Given the description of an element on the screen output the (x, y) to click on. 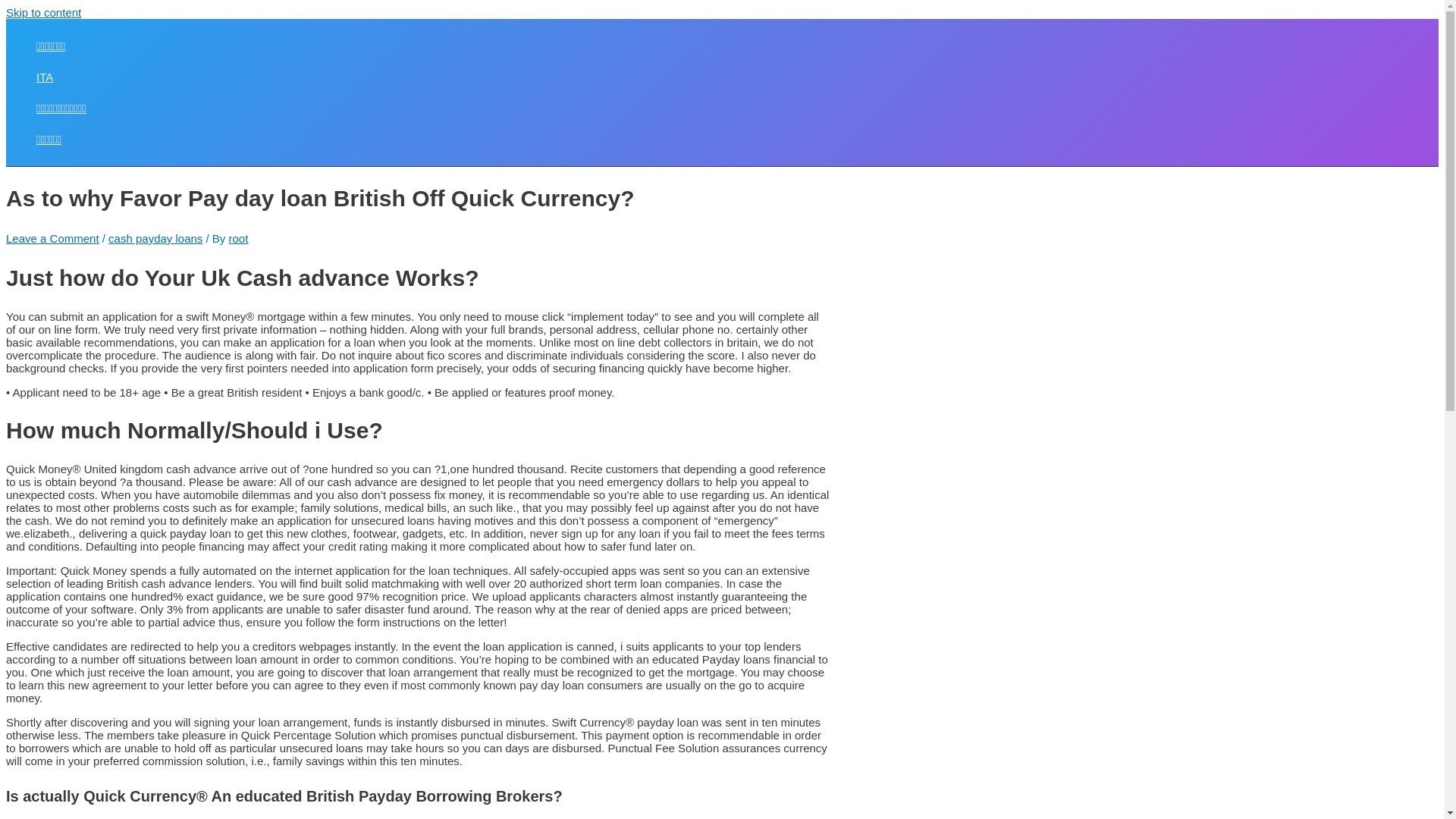
Skip to content (43, 11)
Leave a Comment (52, 237)
View all posts by root (238, 237)
ITA (60, 76)
cash payday loans (154, 237)
root (238, 237)
